Given the description of an element on the screen output the (x, y) to click on. 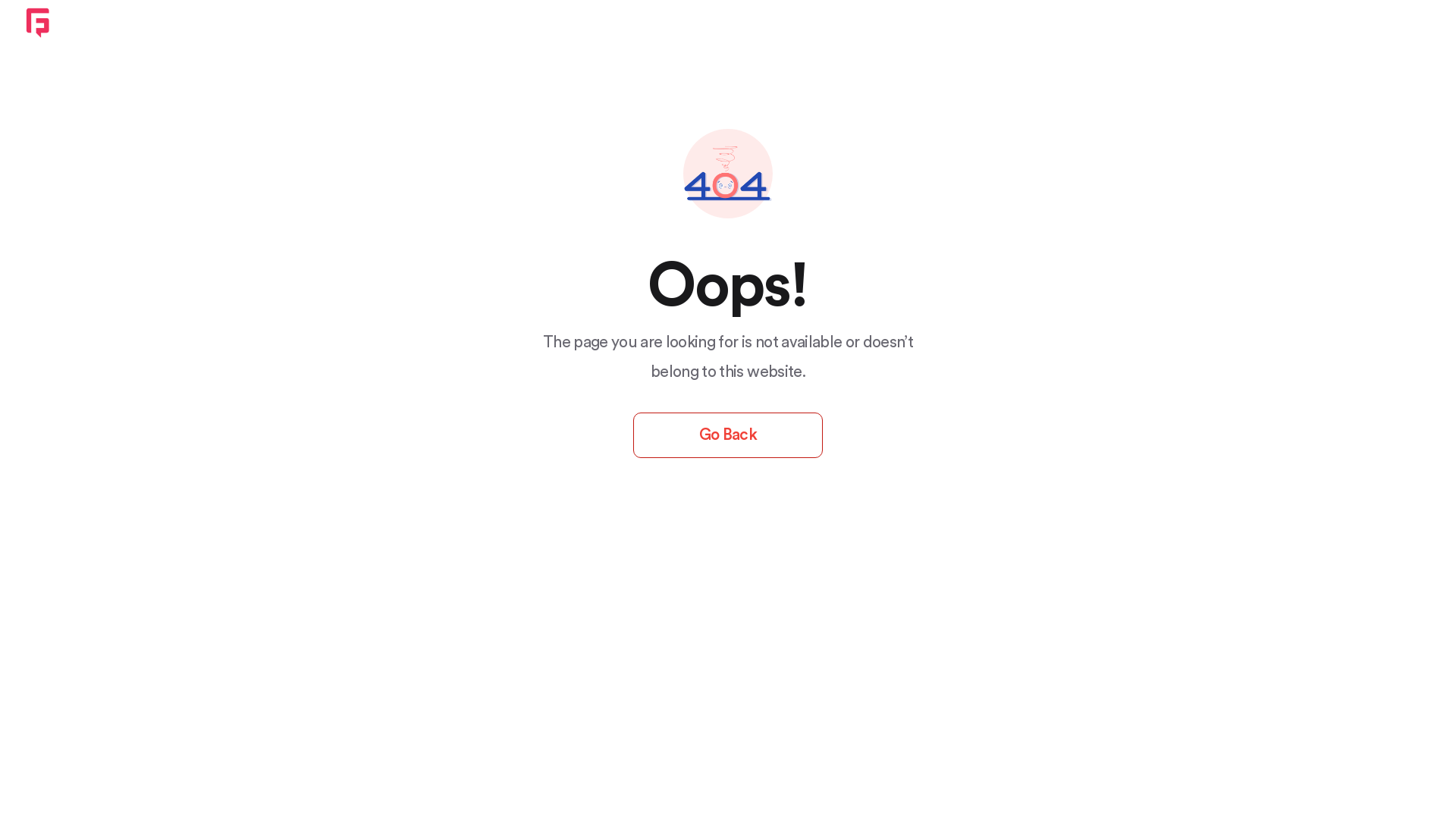
Go Back Element type: text (727, 435)
